Given the description of an element on the screen output the (x, y) to click on. 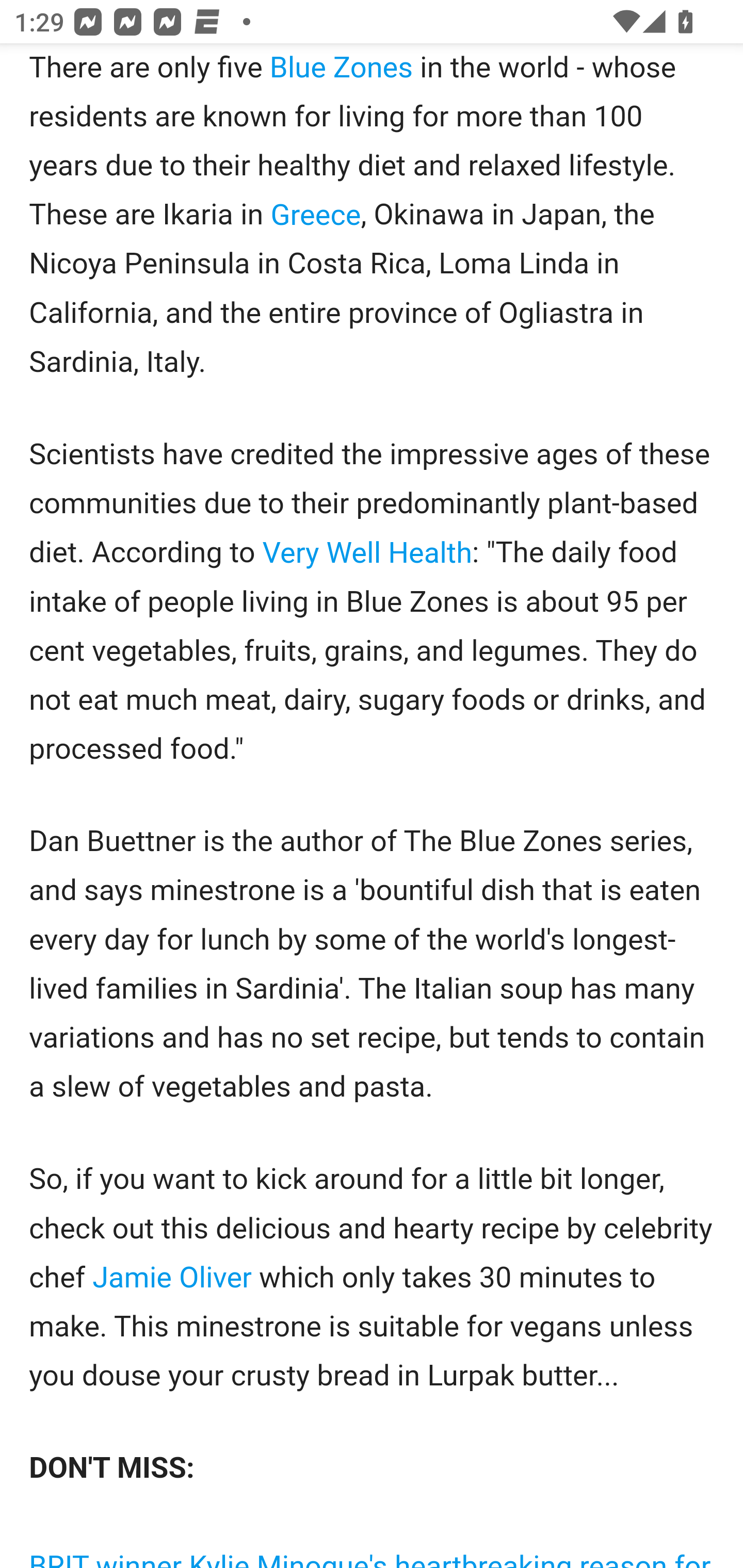
Blue Zones (340, 68)
Greece (315, 214)
Very Well Health (367, 551)
Jamie Oliver (172, 1277)
